Given the description of an element on the screen output the (x, y) to click on. 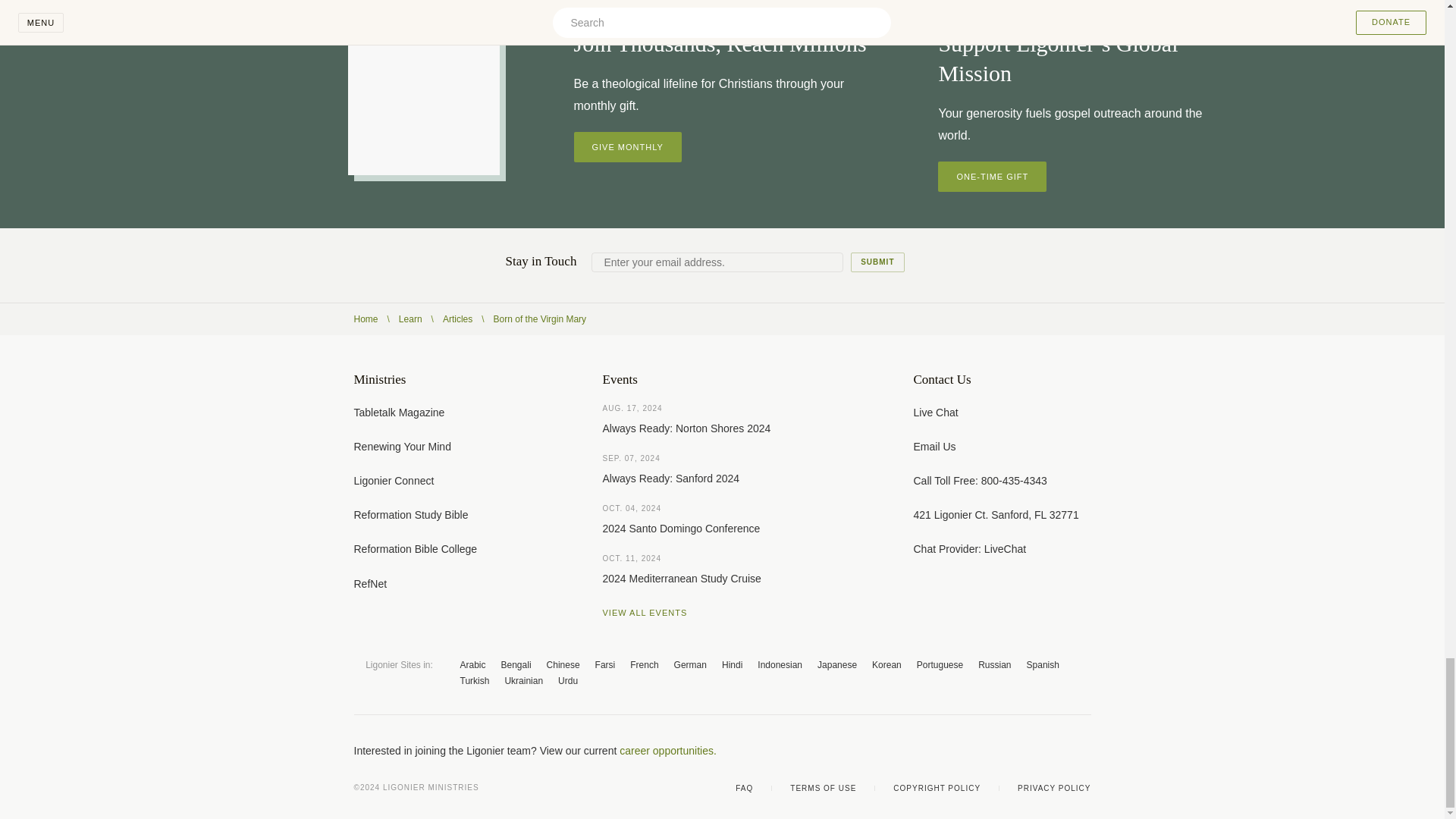
Instagram (1053, 751)
X (993, 751)
Facebook (962, 751)
YouTube (1023, 751)
Linkedin (1083, 751)
